Given the description of an element on the screen output the (x, y) to click on. 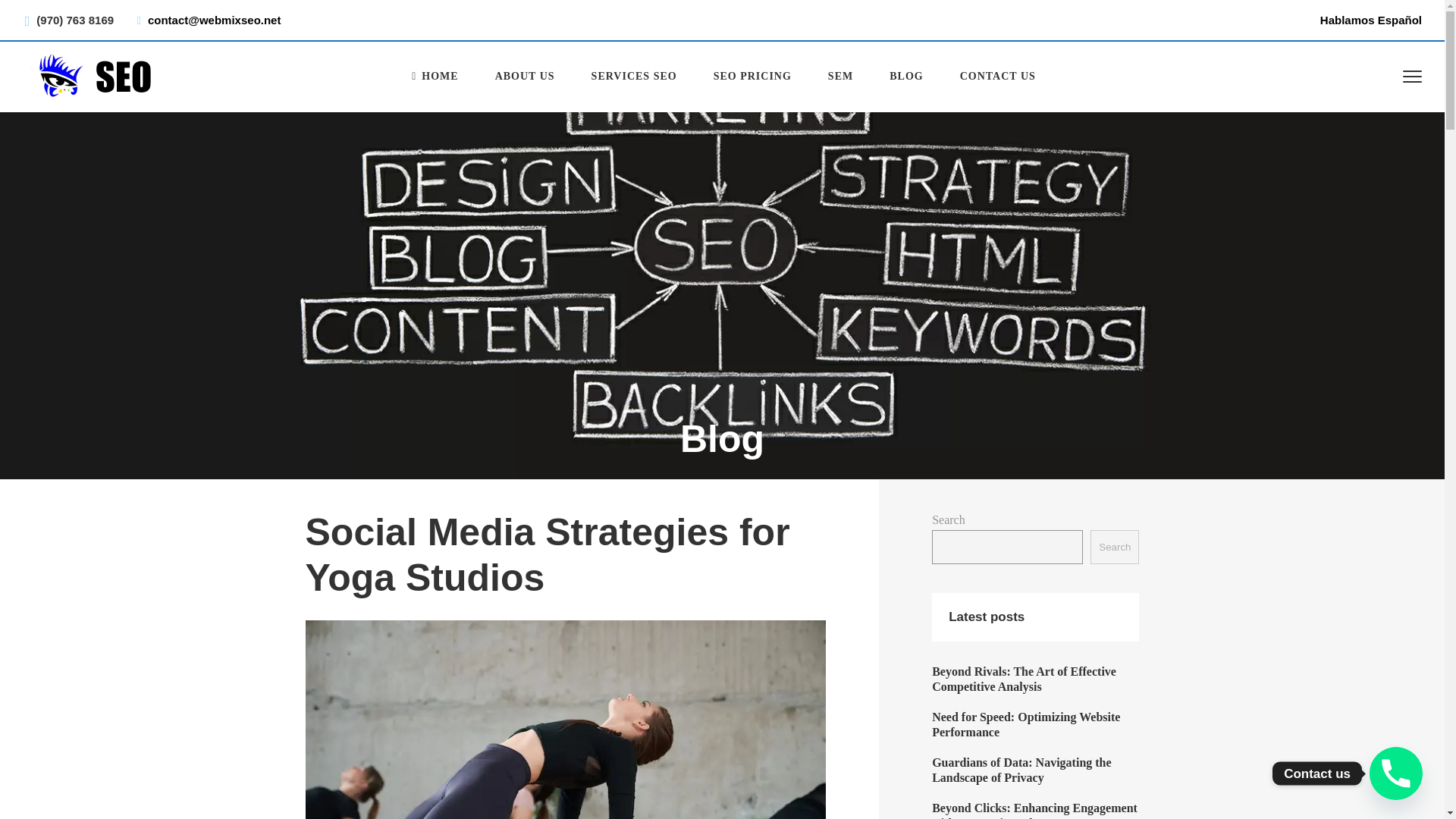
HOME (434, 75)
CONTACT US (998, 75)
SEO PRICING (752, 75)
SEM (839, 75)
ABOUT US (525, 75)
BLOG (905, 75)
Denver SEO (434, 75)
SERVICES SEO (634, 75)
